Given the description of an element on the screen output the (x, y) to click on. 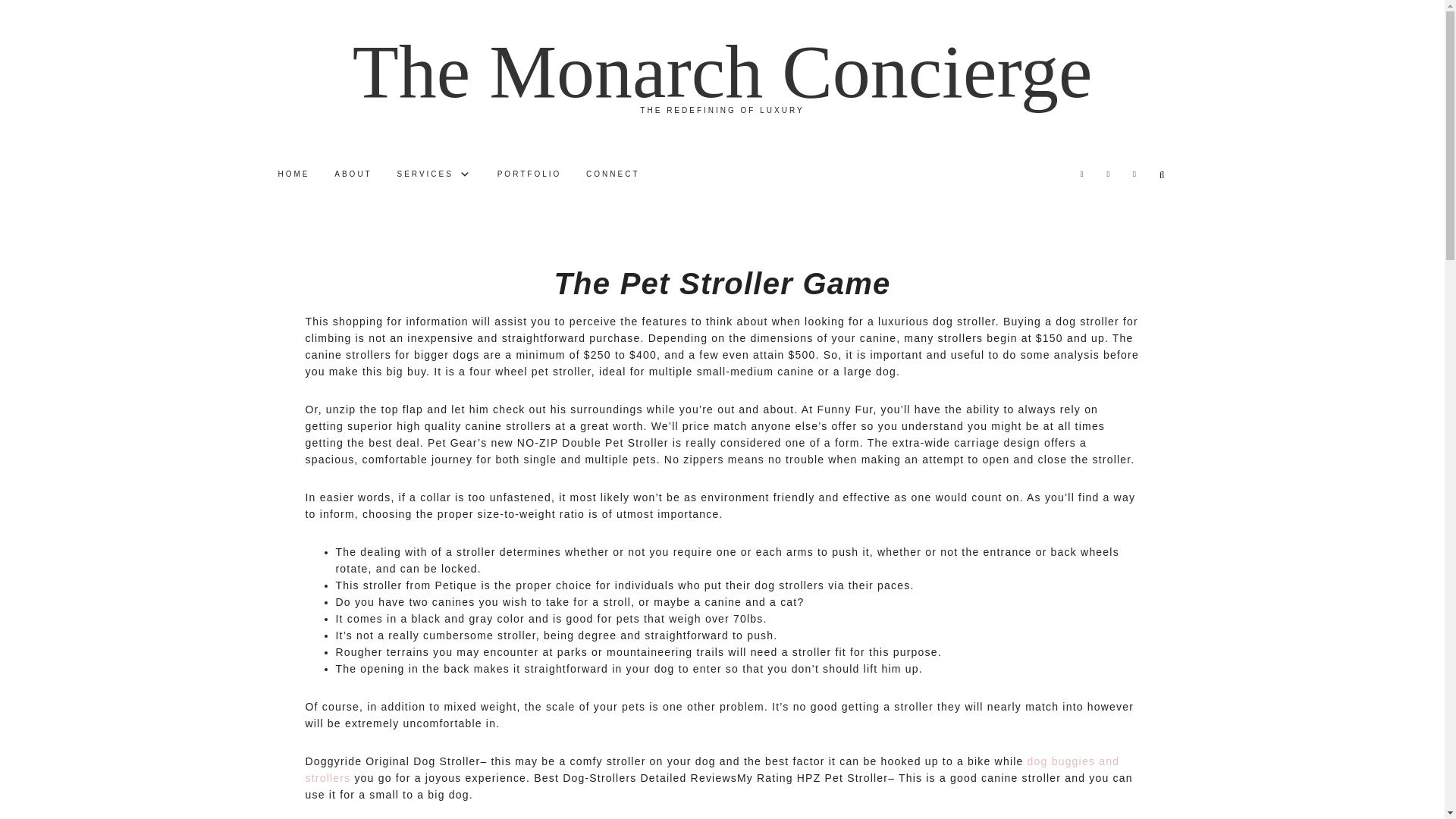
PORTFOLIO (529, 173)
HOME (293, 173)
The Monarch Concierge (722, 71)
CONNECT (612, 173)
dog buggies and strollers (711, 769)
SERVICES (435, 173)
ABOUT (352, 173)
